Given the description of an element on the screen output the (x, y) to click on. 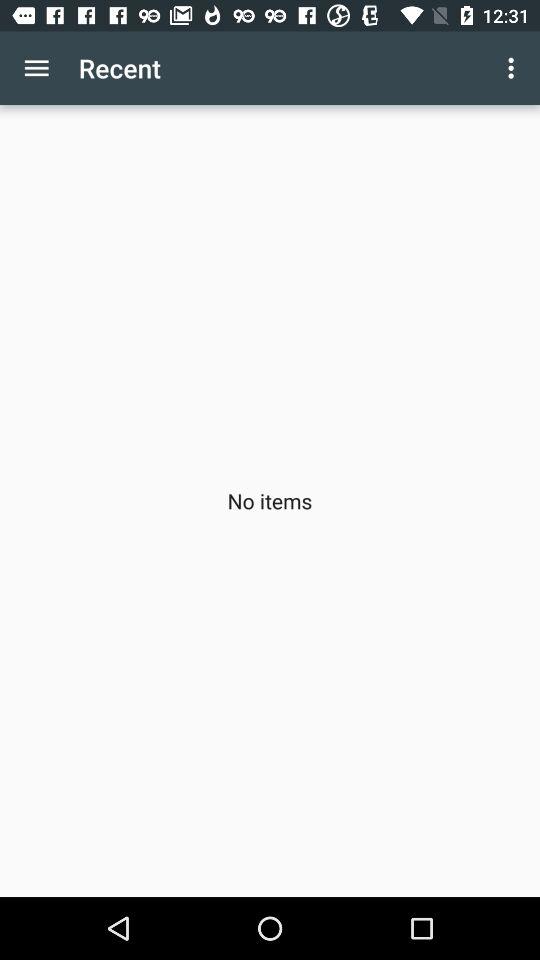
open icon next to recent icon (513, 67)
